Given the description of an element on the screen output the (x, y) to click on. 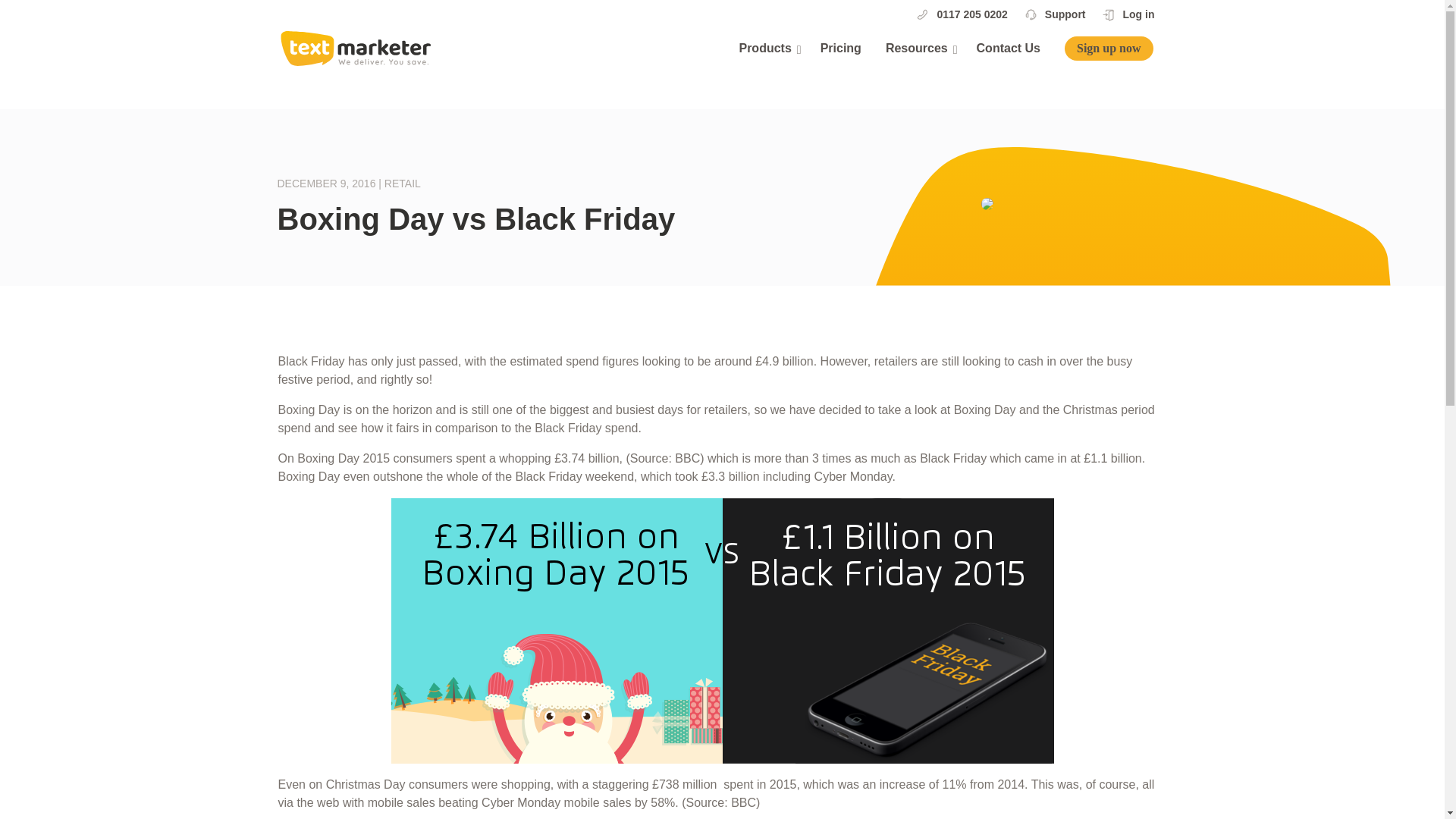
Pricing (841, 51)
Contact Us (1008, 51)
Support (1065, 14)
0117 205 0202 (971, 14)
Log in (1138, 14)
